Given the description of an element on the screen output the (x, y) to click on. 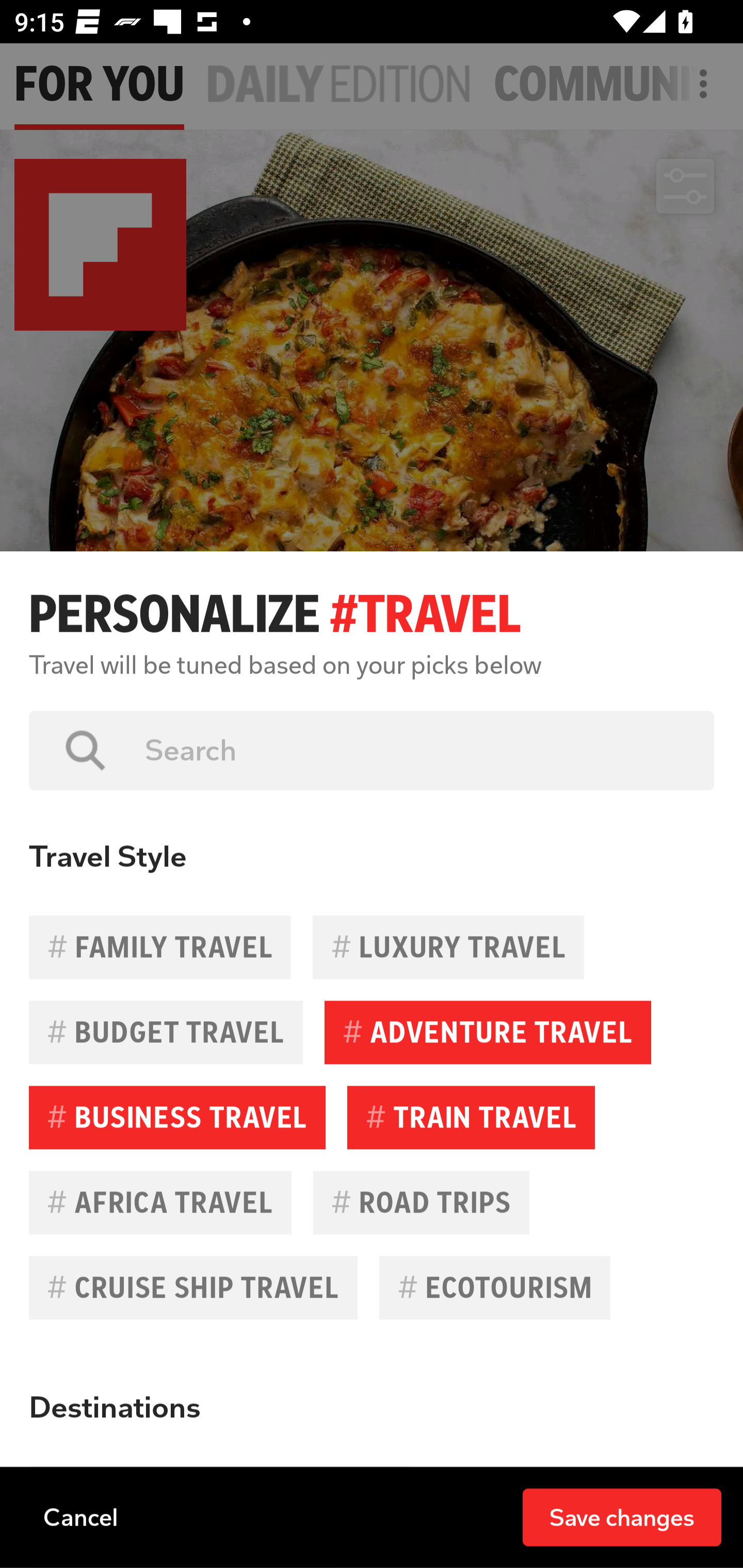
Search (414, 750)
# FAMILY TRAVEL (159, 946)
# LUXURY TRAVEL (447, 946)
# BUDGET TRAVEL (165, 1032)
# ADVENTURE TRAVEL (487, 1032)
# BUSINESS TRAVEL (176, 1117)
# TRAIN TRAVEL (470, 1117)
# AFRICA TRAVEL (159, 1202)
# ROAD TRIPS (421, 1202)
# CRUISE SHIP TRAVEL (192, 1286)
# ECOTOURISM (494, 1286)
Cancel (80, 1516)
Save changes (621, 1517)
